Given the description of an element on the screen output the (x, y) to click on. 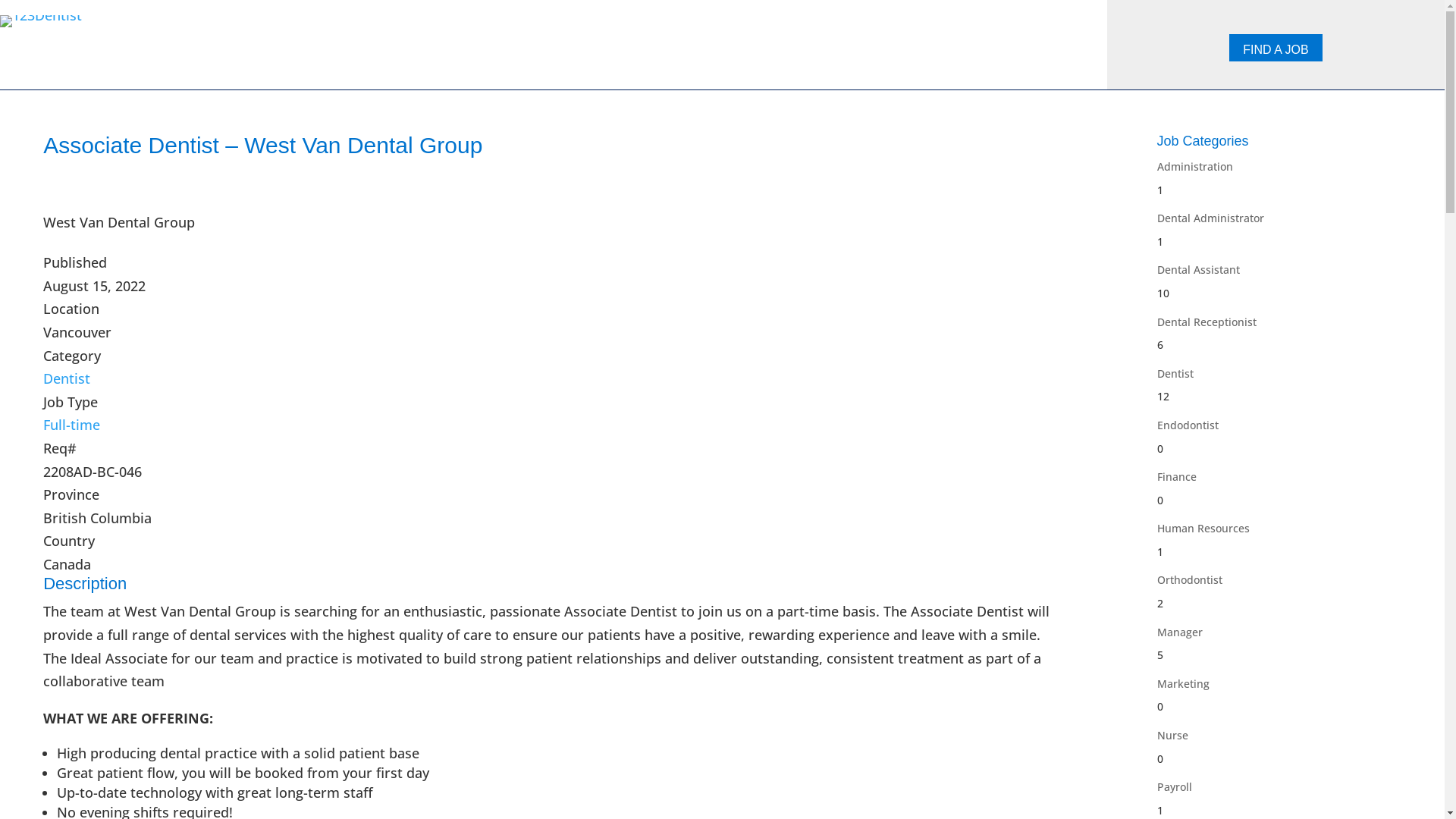
Marketing Element type: text (1183, 683)
Endodontist Element type: text (1187, 424)
Orthodontist Element type: text (1189, 579)
Payroll Element type: text (1174, 786)
Dental Administrator Element type: text (1210, 217)
Dental Receptionist Element type: text (1206, 321)
Human Resources Element type: text (1203, 527)
Finance Element type: text (1176, 476)
123dentist-logo Element type: hover (40, 21)
FIND A JOB Element type: text (1275, 47)
Nurse Element type: text (1172, 735)
Dental Assistant Element type: text (1198, 269)
Full-time Element type: text (71, 424)
Dentist Element type: text (1175, 373)
Administration Element type: text (1195, 166)
Manager Element type: text (1179, 631)
Dentist Element type: text (66, 378)
